Given the description of an element on the screen output the (x, y) to click on. 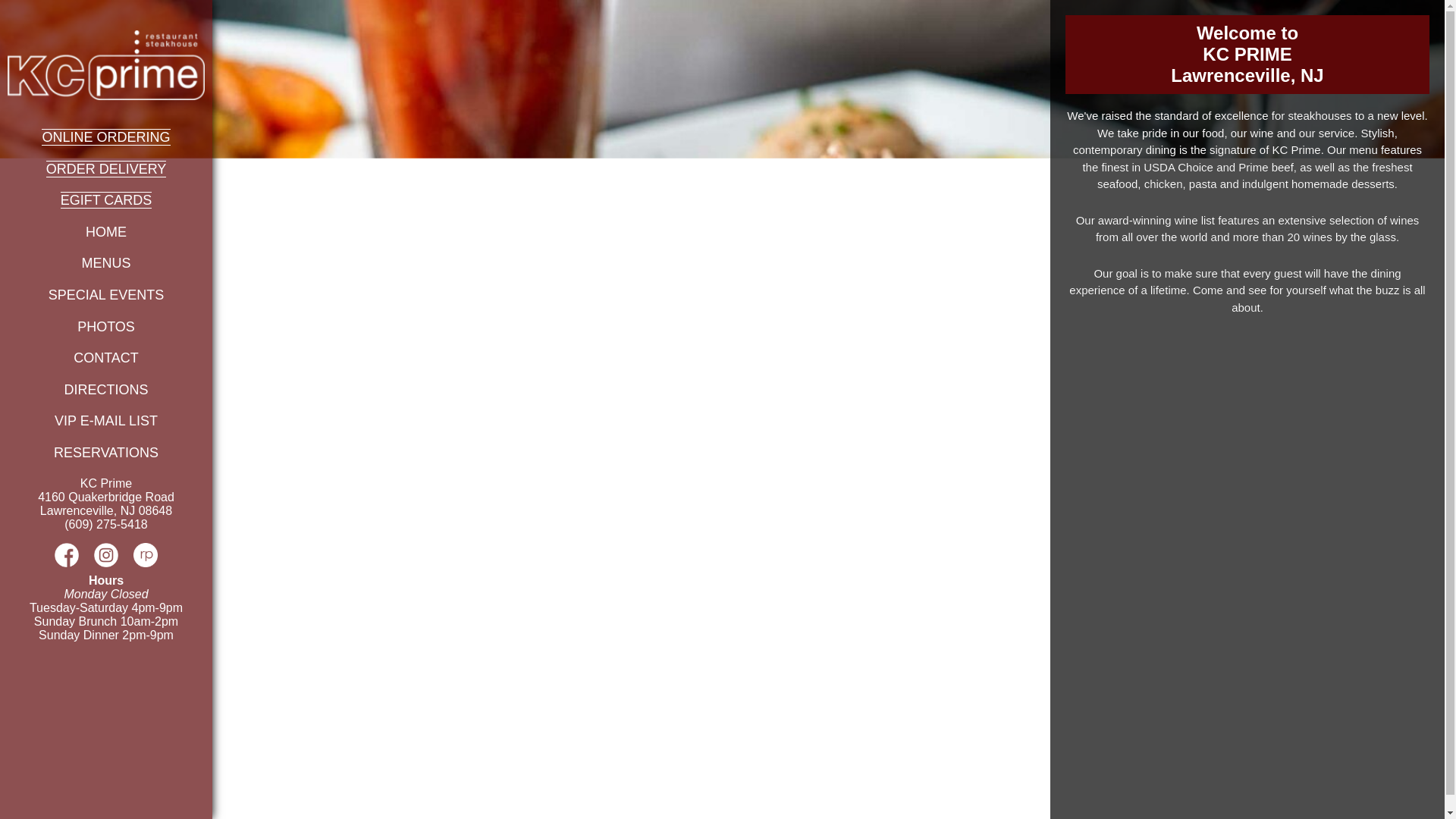
SPECIAL EVENTS (105, 294)
VIP E-MAIL LIST (106, 420)
ORDER DELIVERY (106, 168)
EGIFT CARDS (106, 199)
MENUS (106, 263)
Visit Our RestaurantPassion Page (145, 562)
CONTACT (106, 357)
PHOTOS (106, 326)
DIRECTIONS (106, 389)
Visit Our Instagram Page (105, 562)
